Given the description of an element on the screen output the (x, y) to click on. 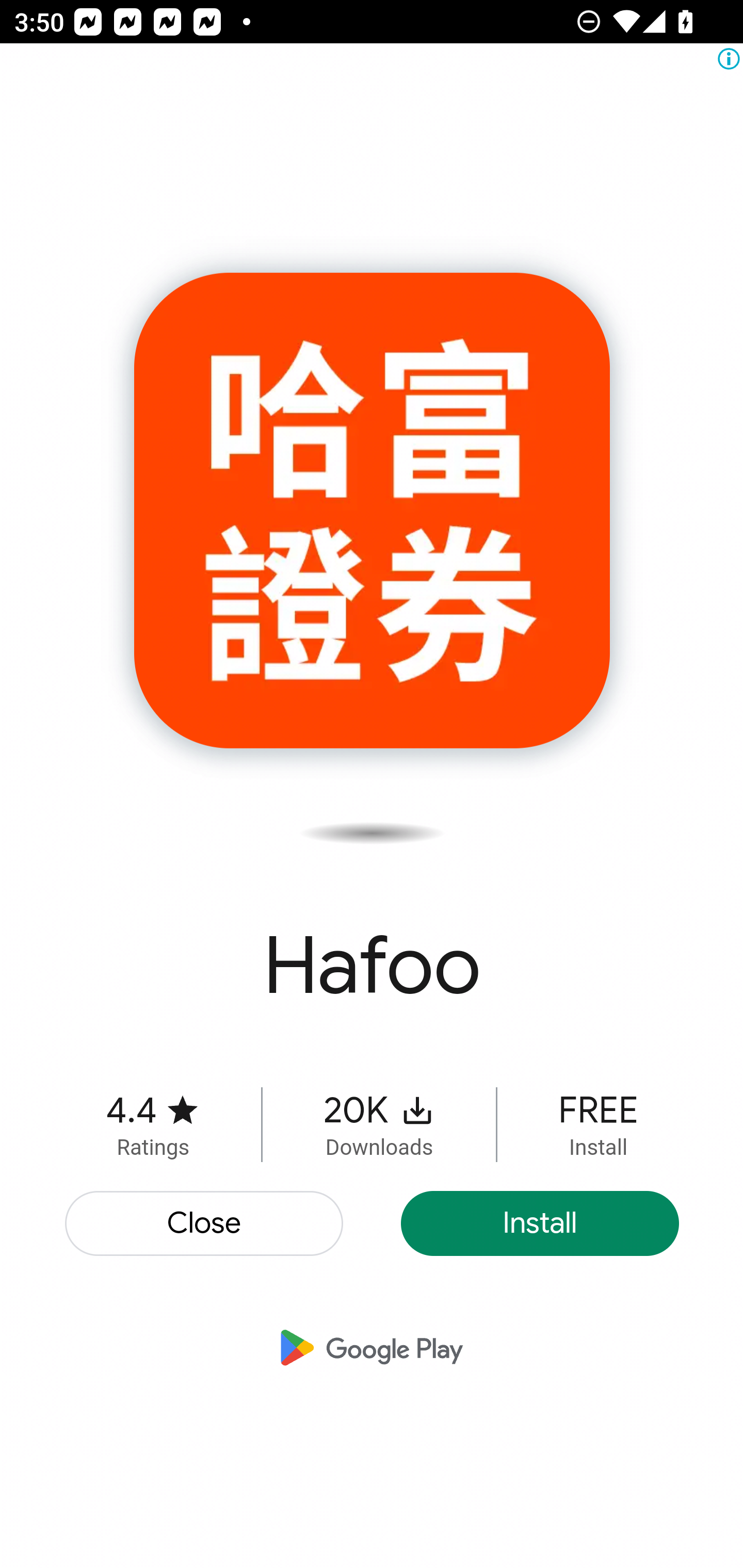
Close (204, 1222)
Install (539, 1222)
